Given the description of an element on the screen output the (x, y) to click on. 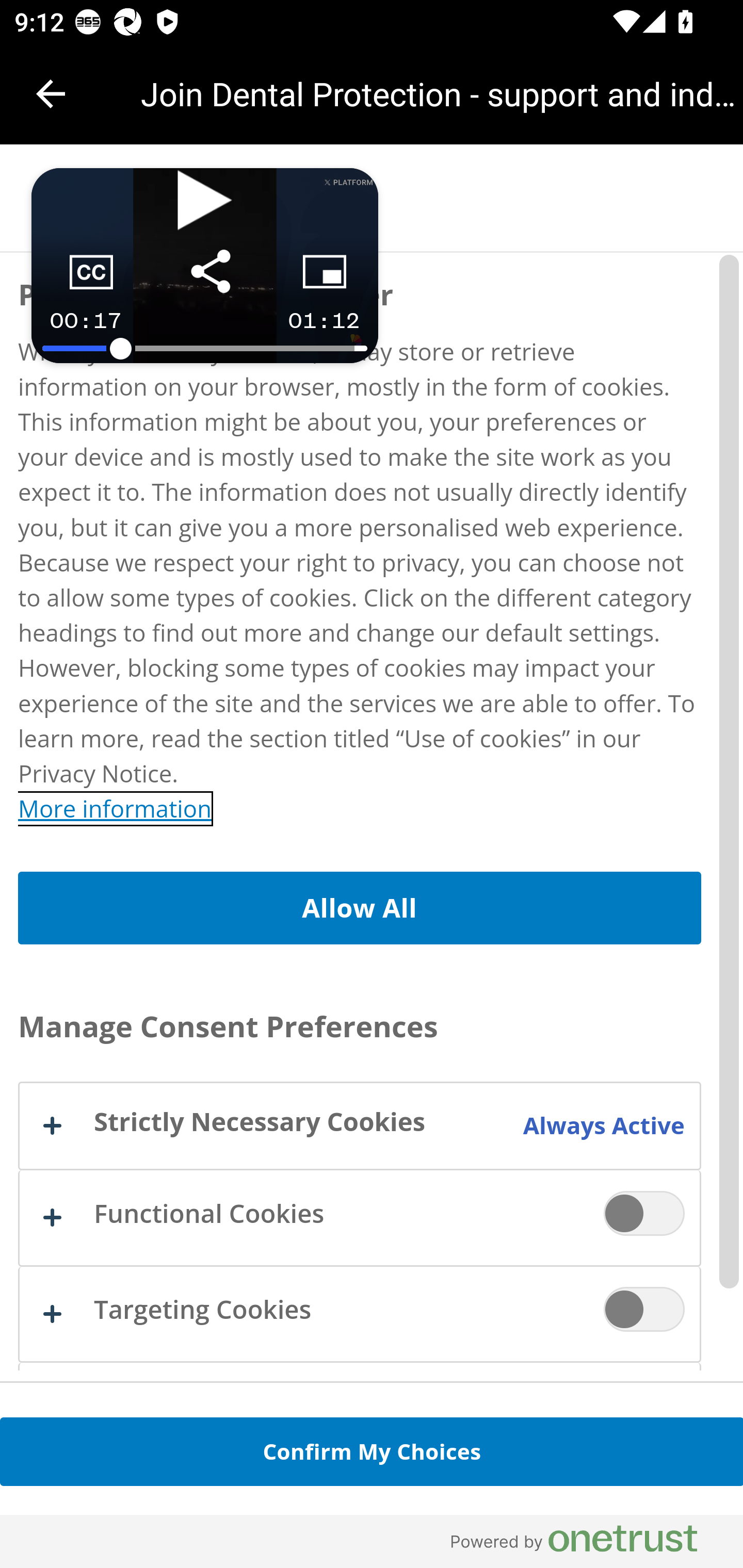
Navigate up (50, 93)
JOIN TODAY (371, 1513)
